Given the description of an element on the screen output the (x, y) to click on. 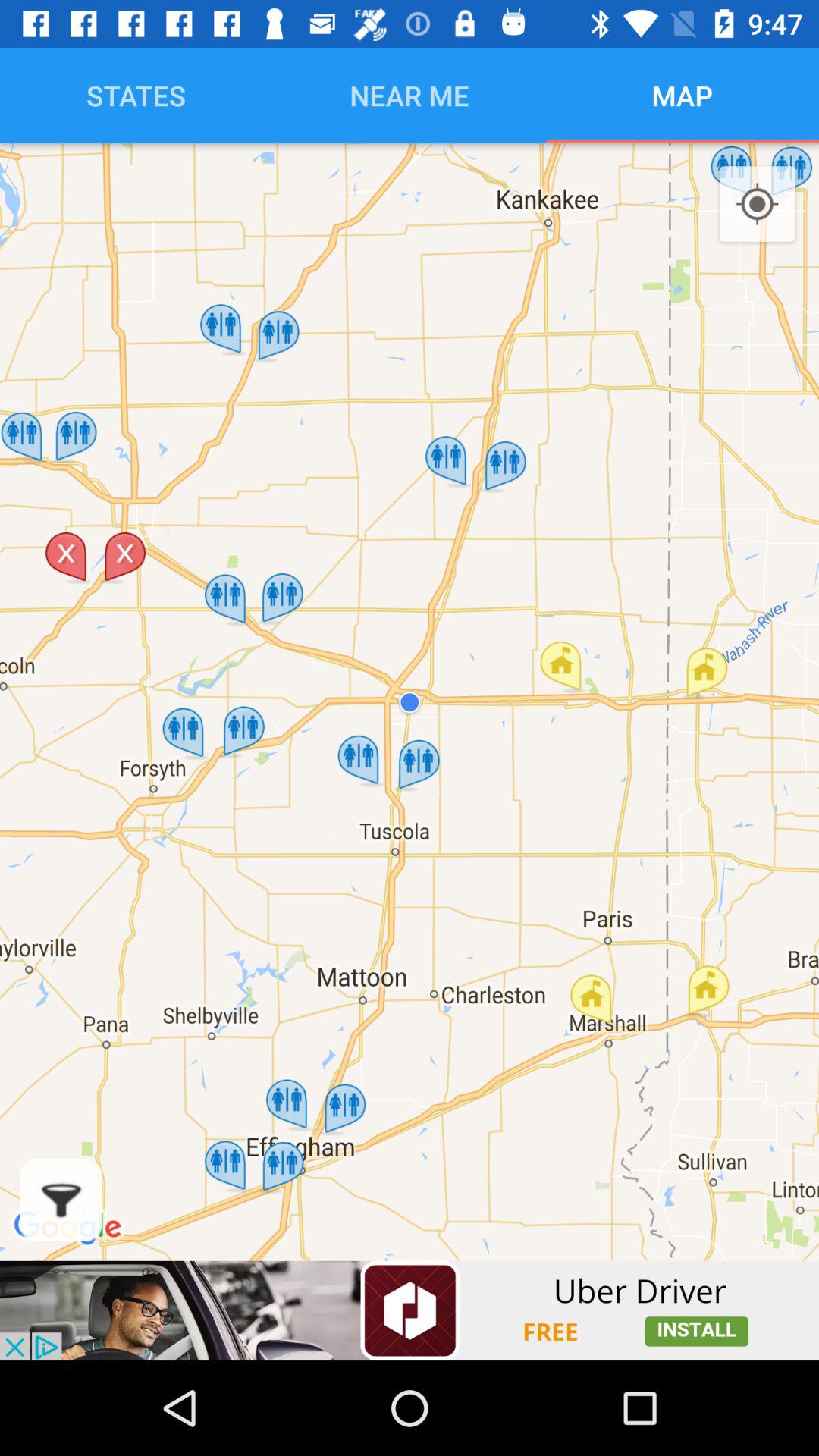
advertisement banner (409, 1310)
